Given the description of an element on the screen output the (x, y) to click on. 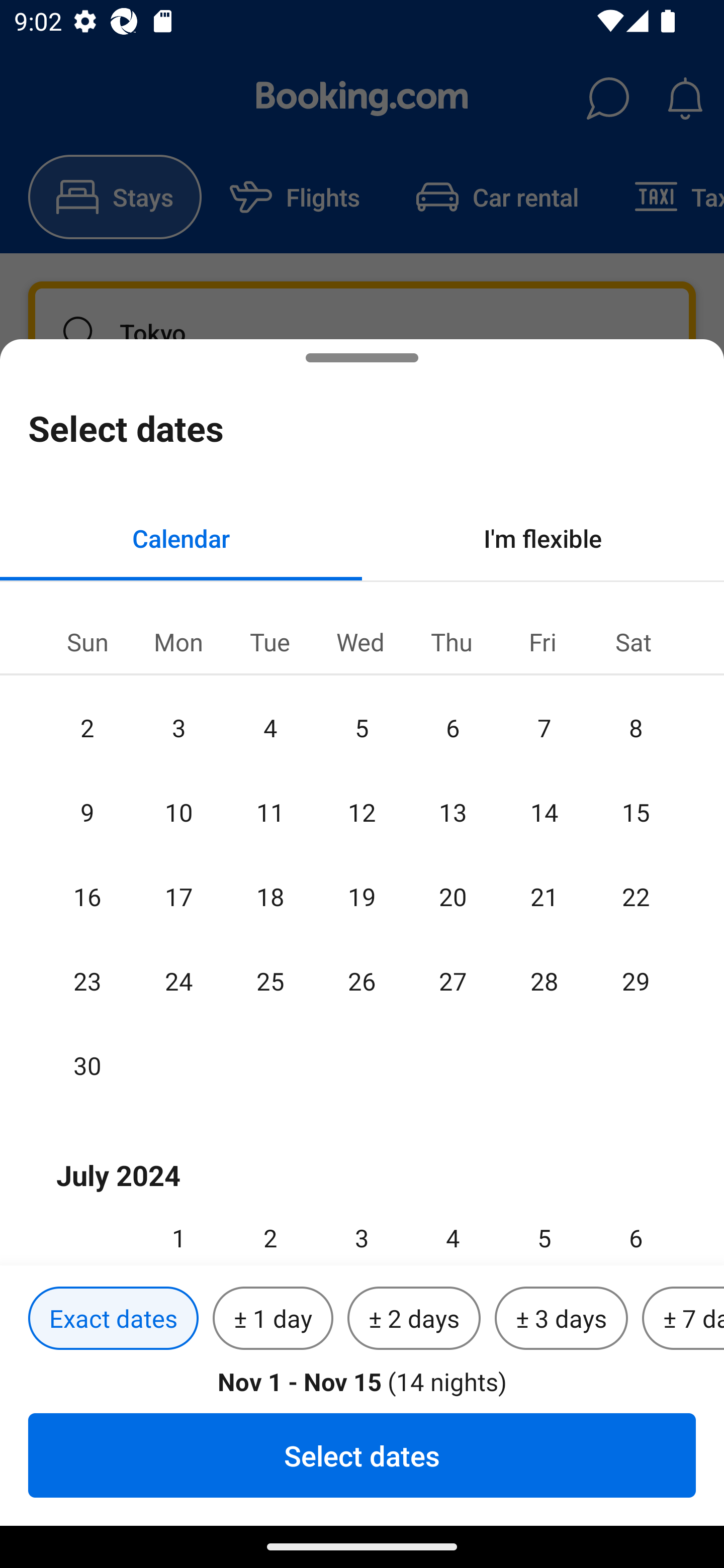
I'm flexible (543, 537)
Exact dates (113, 1318)
± 1 day (272, 1318)
± 2 days (413, 1318)
± 3 days (560, 1318)
± 7 days (683, 1318)
Select dates (361, 1454)
